Given the description of an element on the screen output the (x, y) to click on. 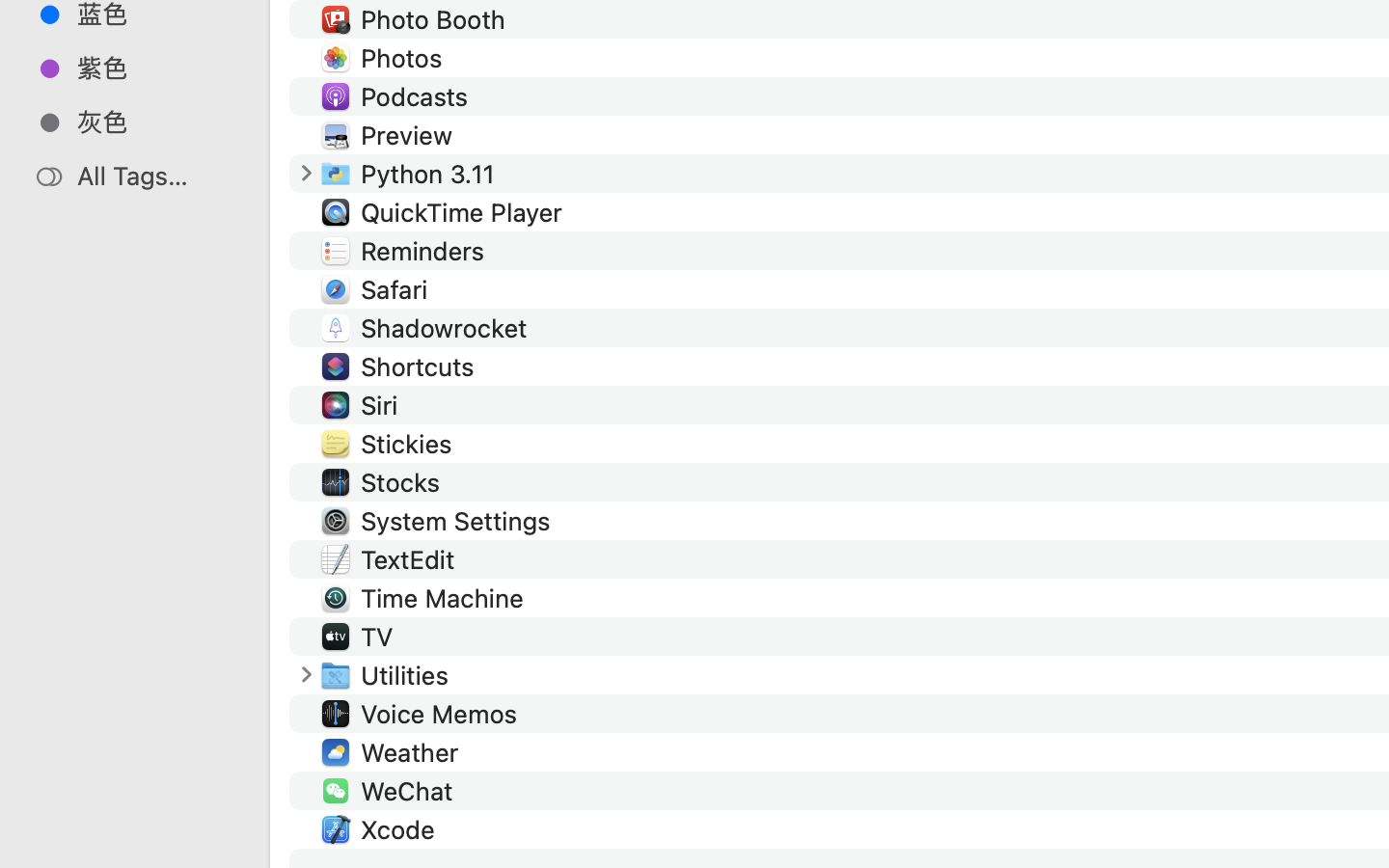
Podcasts Element type: AXTextField (418, 96)
Time Machine Element type: AXTextField (446, 597)
Python 3.11 Element type: AXTextField (431, 173)
0 Element type: AXRadioButton (23, 846)
Utilities Element type: AXTextField (408, 674)
